Given the description of an element on the screen output the (x, y) to click on. 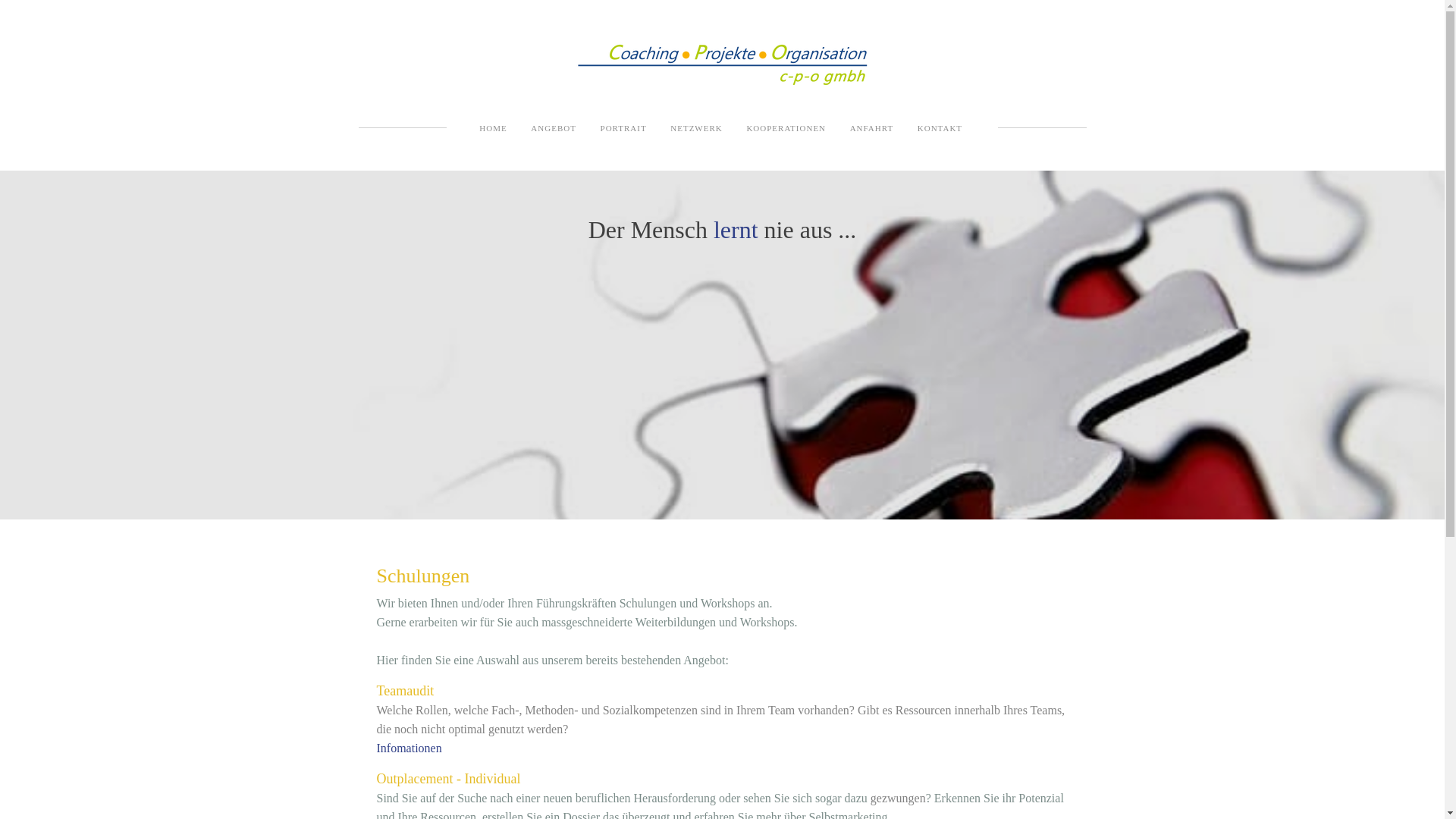
ANGEBOT Element type: text (553, 128)
lernt Element type: text (738, 229)
NETZWERK Element type: text (695, 128)
ANFAHRT Element type: text (871, 128)
Infomationen Element type: text (408, 747)
KONTAKT Element type: text (939, 128)
KOOPERATIONEN Element type: text (785, 128)
HOME Element type: text (492, 128)
PORTRAIT Element type: text (623, 128)
